Given the description of an element on the screen output the (x, y) to click on. 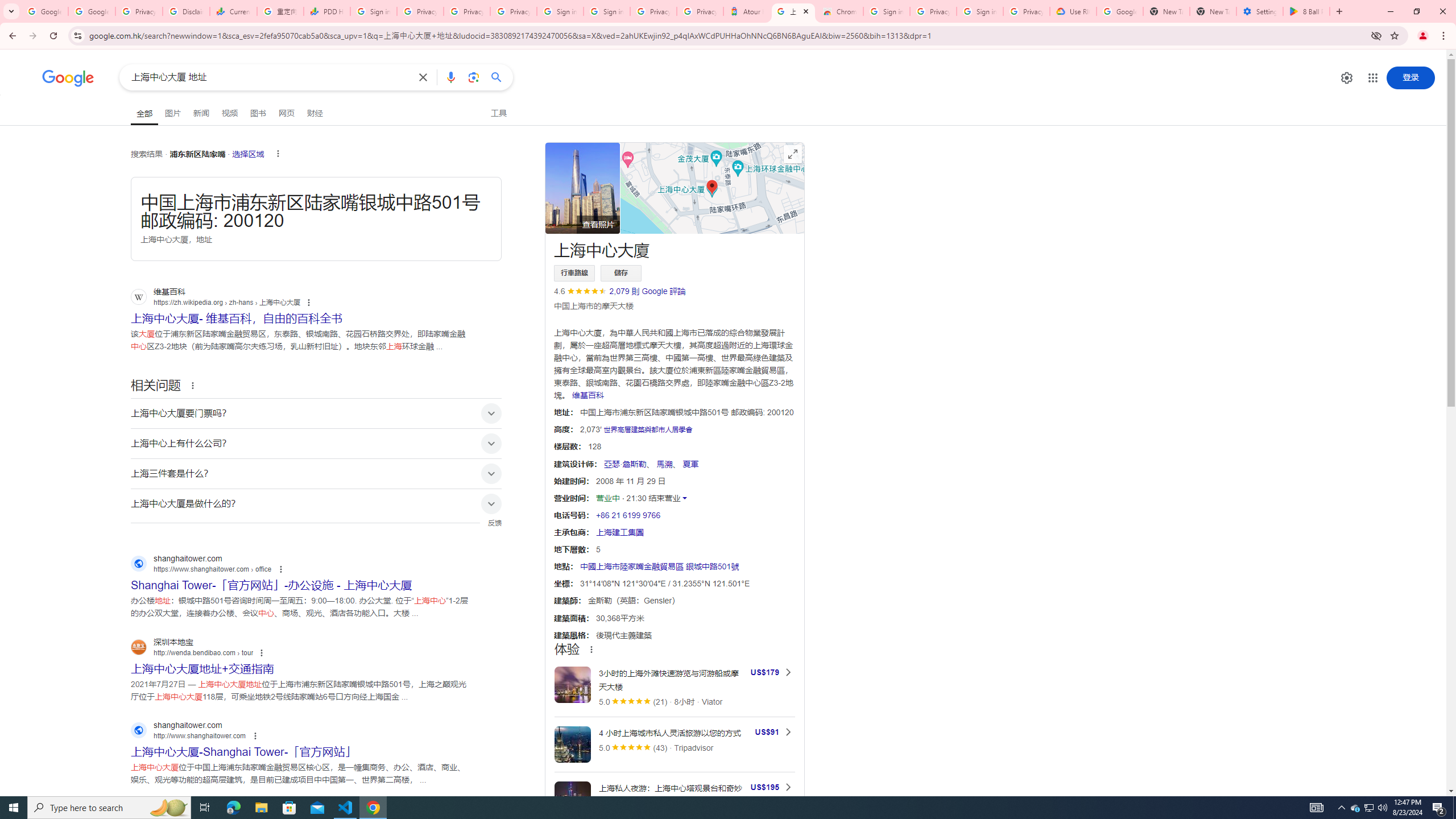
Google Workspace Admin Community (44, 11)
